Given the description of an element on the screen output the (x, y) to click on. 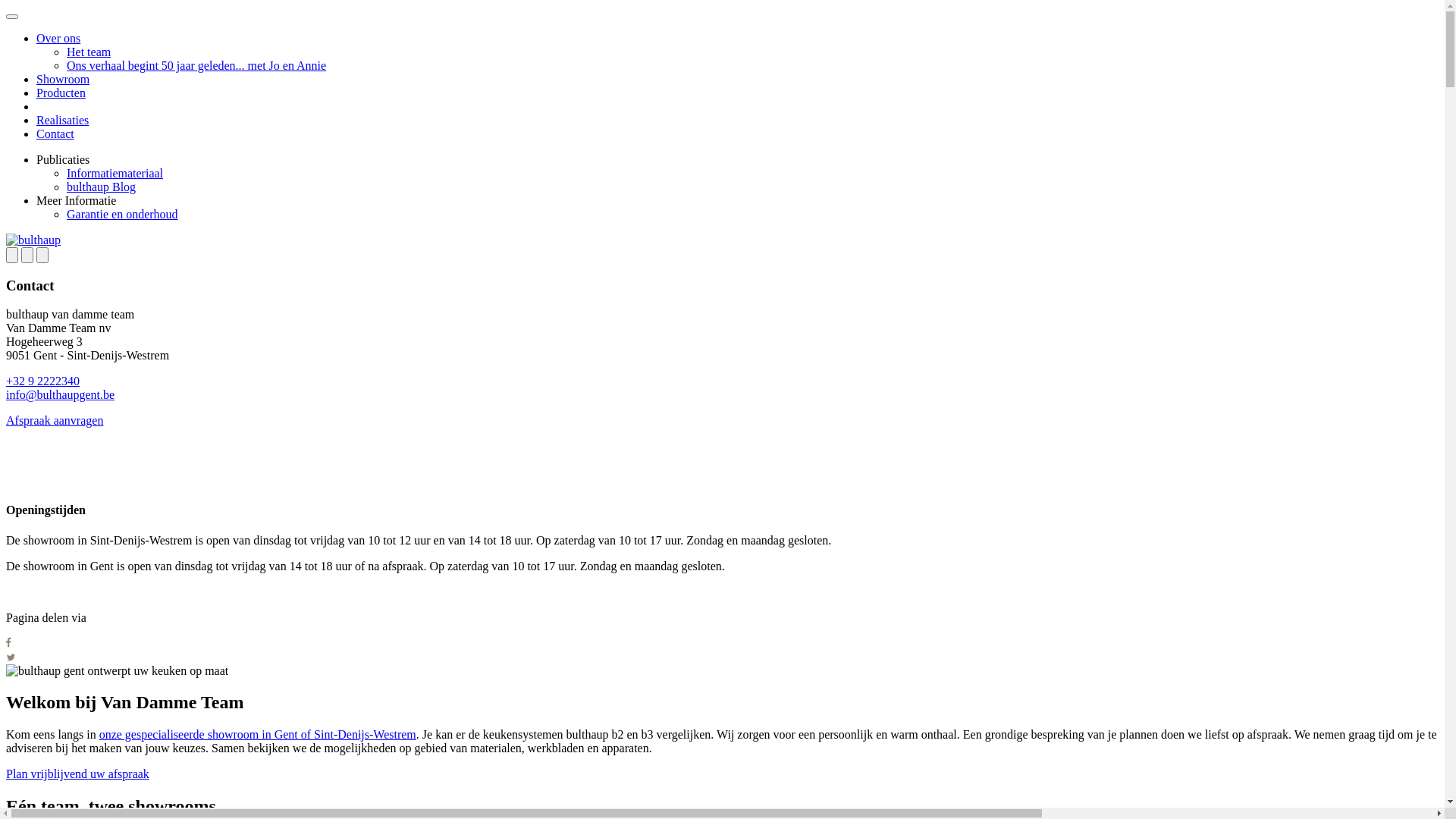
+32 9 2222340 Element type: text (42, 380)
Plan vrijblijvend uw afspraak Element type: text (77, 773)
Afspraak aanvragen Element type: text (54, 420)
close Element type: hover (42, 255)
menu openen Element type: hover (12, 16)
Realisaties Element type: text (62, 119)
share on facebook Element type: hover (8, 643)
Ons verhaal begint 50 jaar geleden... met Jo en Annie Element type: text (196, 65)
Meer Informatie Element type: text (76, 200)
Producten Element type: text (60, 92)
Publicaties Element type: text (62, 159)
bulthaup Blog Element type: text (100, 186)
Het team Element type: text (88, 51)
Garantie en onderhoud Element type: text (122, 213)
Informatiemateriaal Element type: text (114, 172)
Over ons Element type: text (58, 37)
share Element type: hover (27, 255)
Showroom Element type: text (62, 78)
Contact Element type: text (55, 133)
info@bulthaupgent.be Element type: text (60, 394)
